Given the description of an element on the screen output the (x, y) to click on. 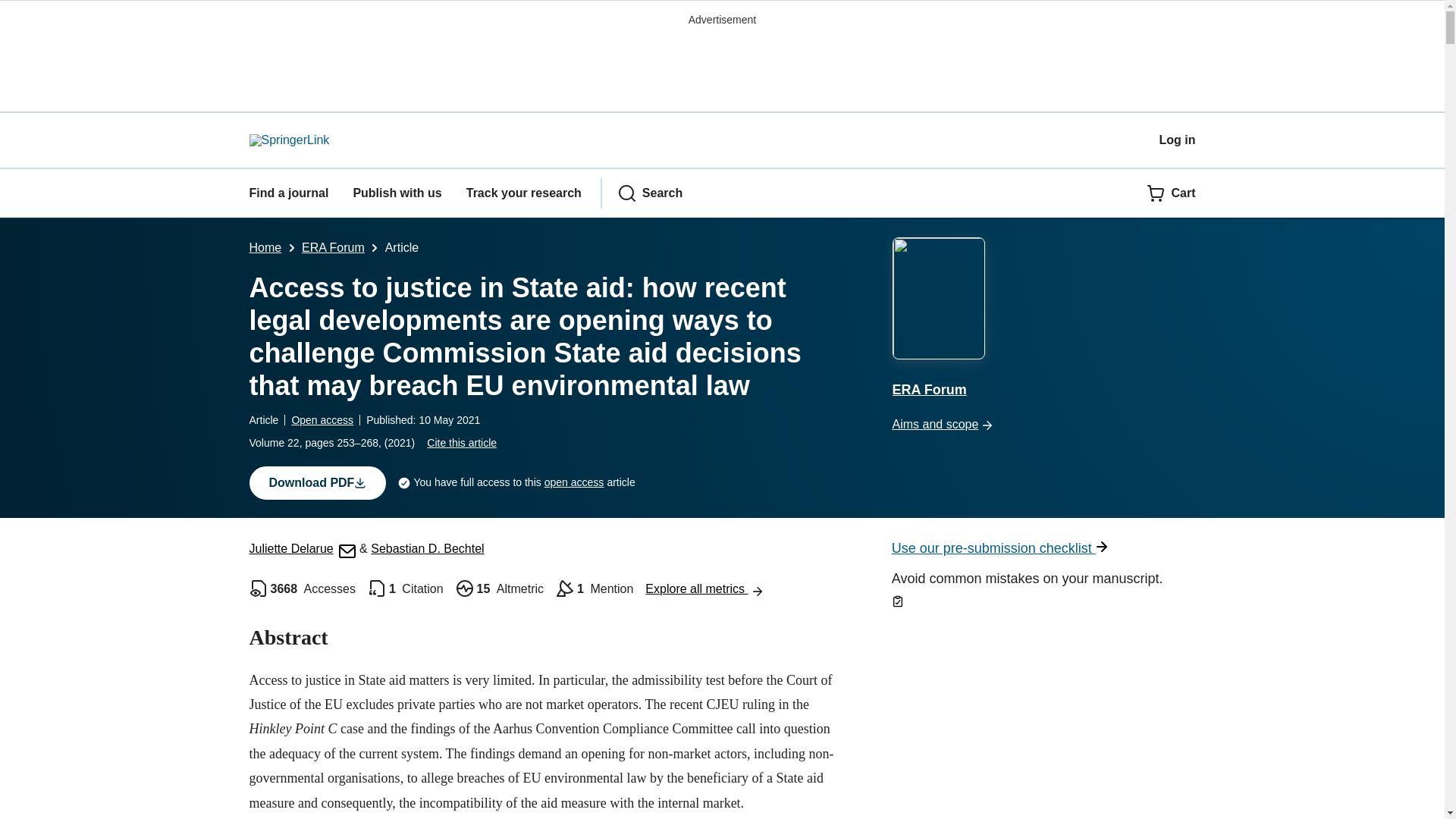
Sebastian D. Bechtel (427, 548)
Cart (1170, 192)
ERA Forum (1043, 319)
Home (264, 246)
ERA Forum (333, 246)
Search (649, 192)
Track your research (524, 192)
Find a journal (288, 192)
open access (574, 482)
Download PDF (316, 482)
